Given the description of an element on the screen output the (x, y) to click on. 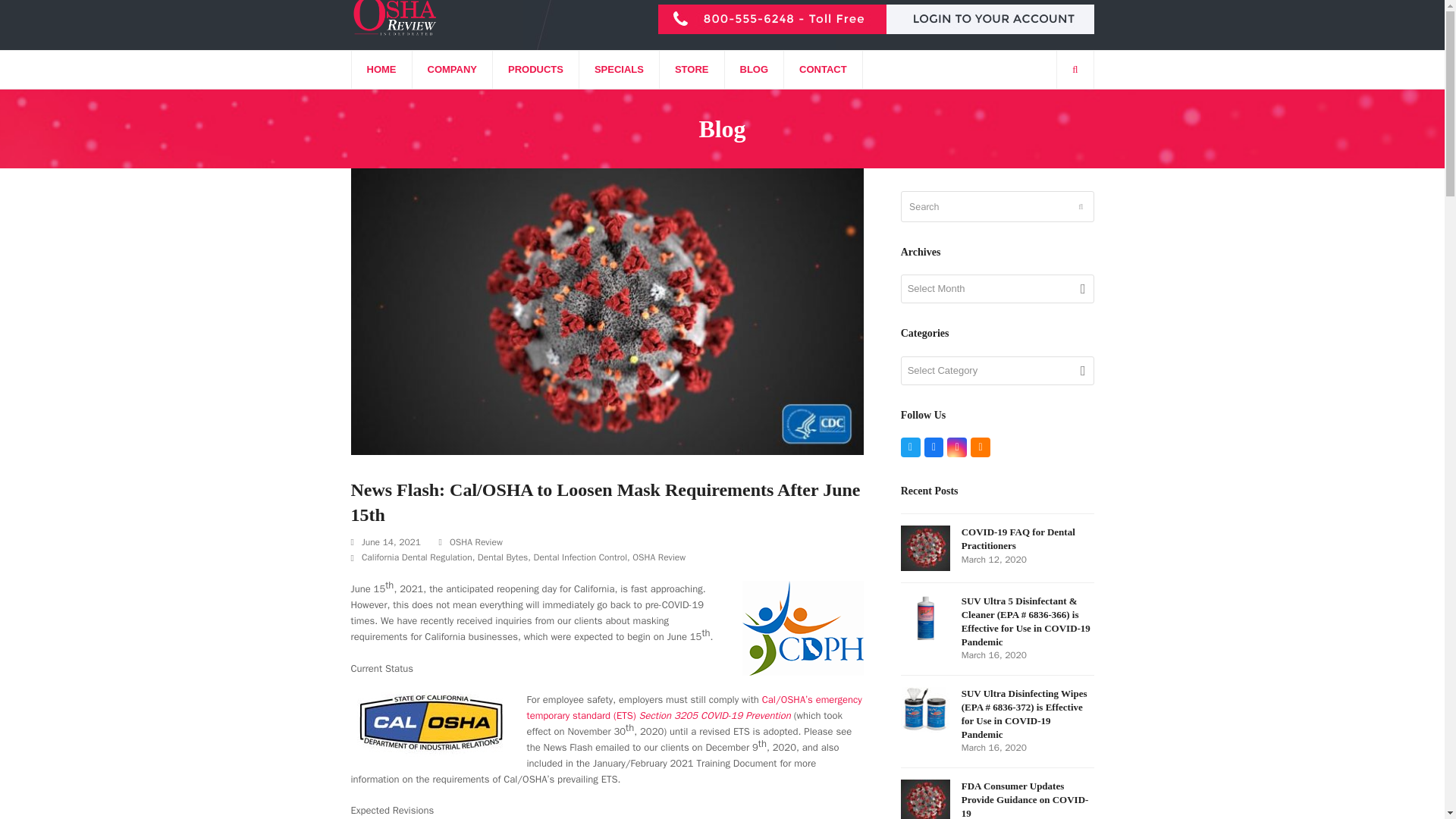
Contact OSHA Review (822, 69)
HOME (382, 69)
COMPANY (452, 69)
Instagram (956, 447)
Dental Bytes (502, 557)
California Dental Regulation (416, 557)
Facebook (933, 447)
Special Offers from OSHA Review (619, 69)
Dental Infection Control (580, 557)
Twitter (910, 447)
BLOG (754, 69)
Posts by OSHA Review (475, 541)
SPECIALS (619, 69)
CONTACT (822, 69)
STORE (691, 69)
